Given the description of an element on the screen output the (x, y) to click on. 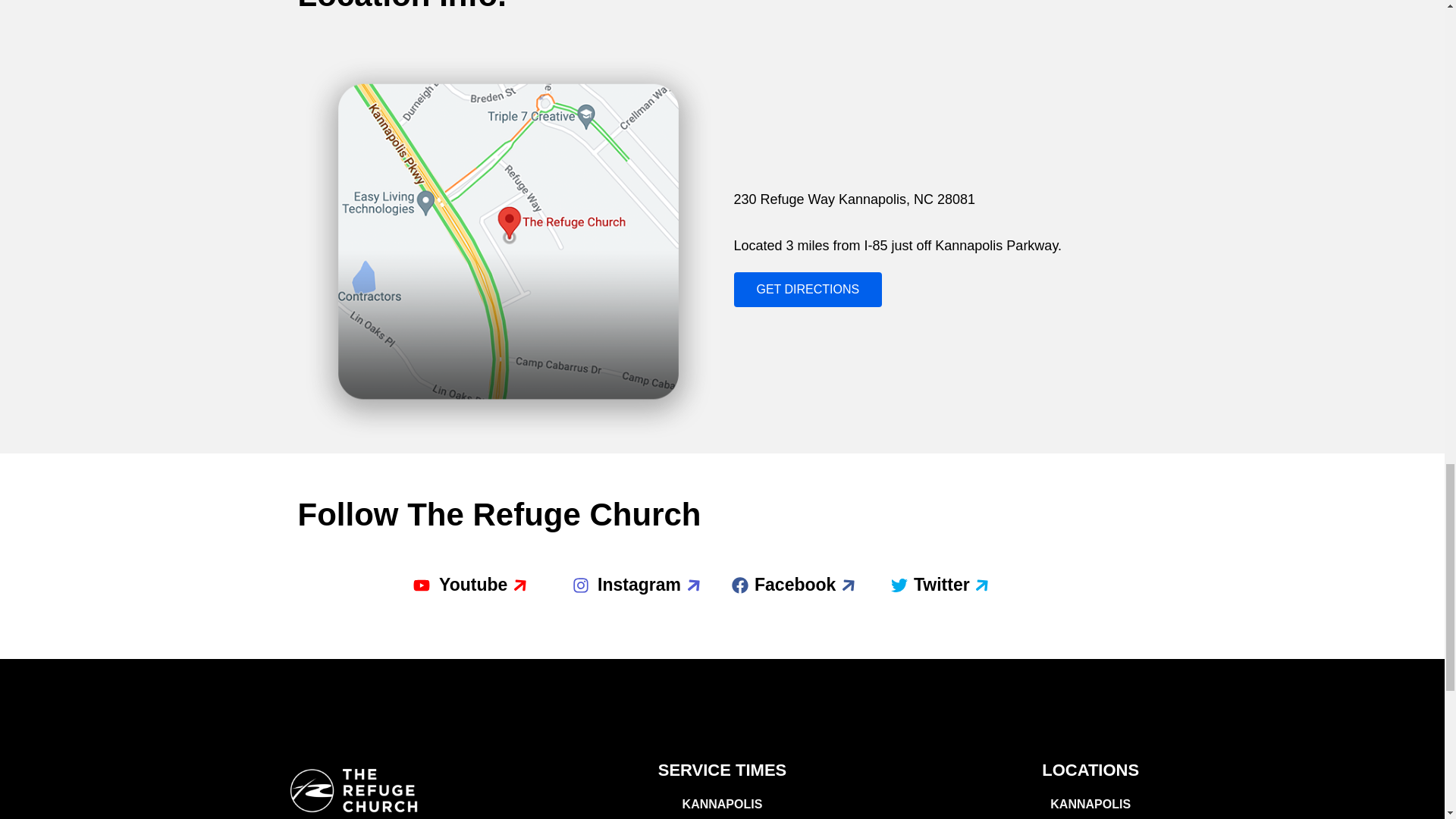
GET DIRECTIONS (807, 289)
Instagram (624, 585)
Twitter (928, 585)
Youtube (458, 585)
Facebook (782, 585)
